Given the description of an element on the screen output the (x, y) to click on. 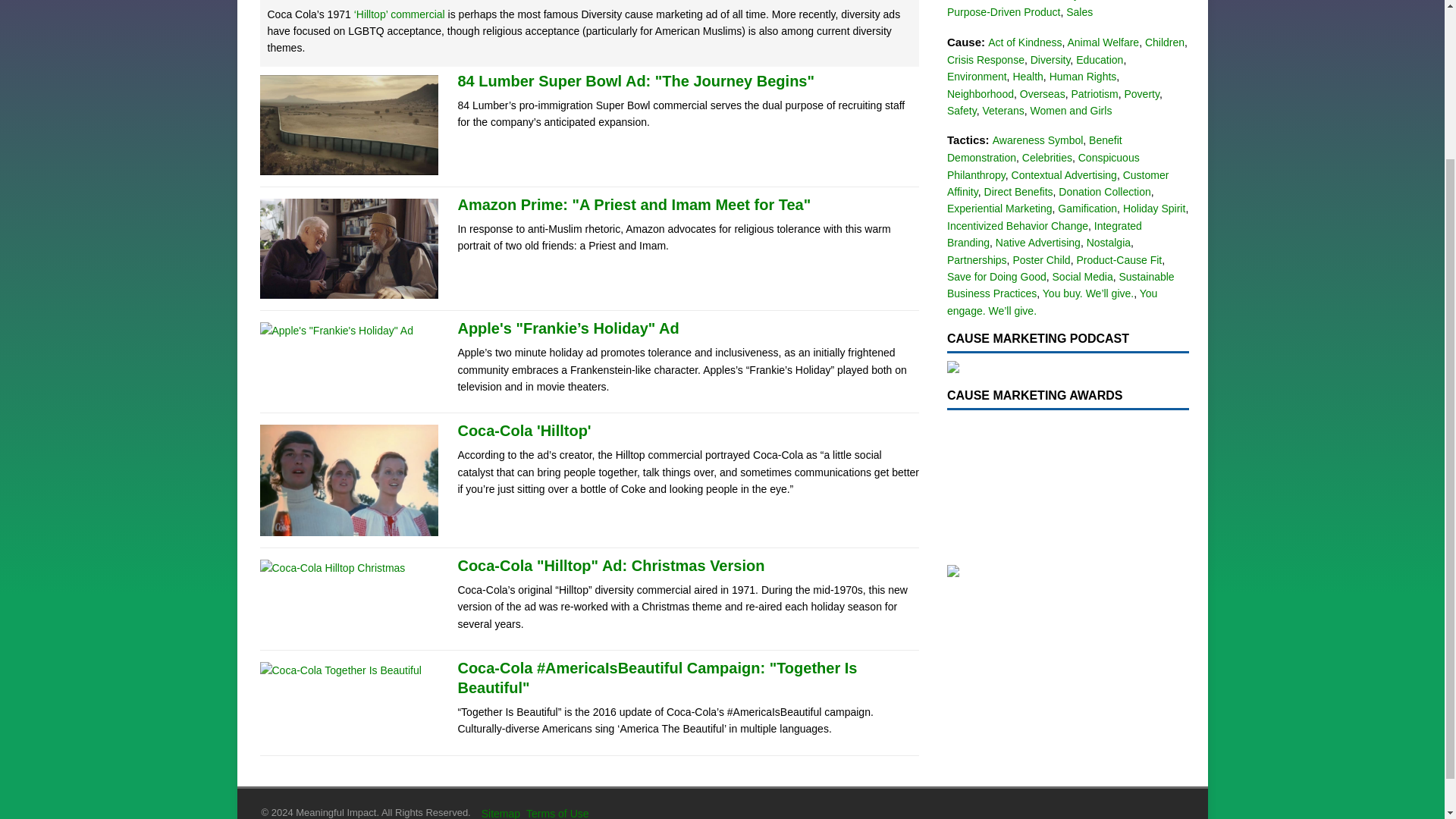
Coca-Cola "Hilltop" Ad: Christmas Version (610, 565)
84 Lumber Super Bowl Ad: "The Journey Begins" (635, 80)
Coca-Cola 'Hilltop' (524, 430)
Amazon Prime: "A Priest and Imam Meet for Tea" (633, 204)
The Meaningful Impact Awards -- Overview (1068, 484)
